Given the description of an element on the screen output the (x, y) to click on. 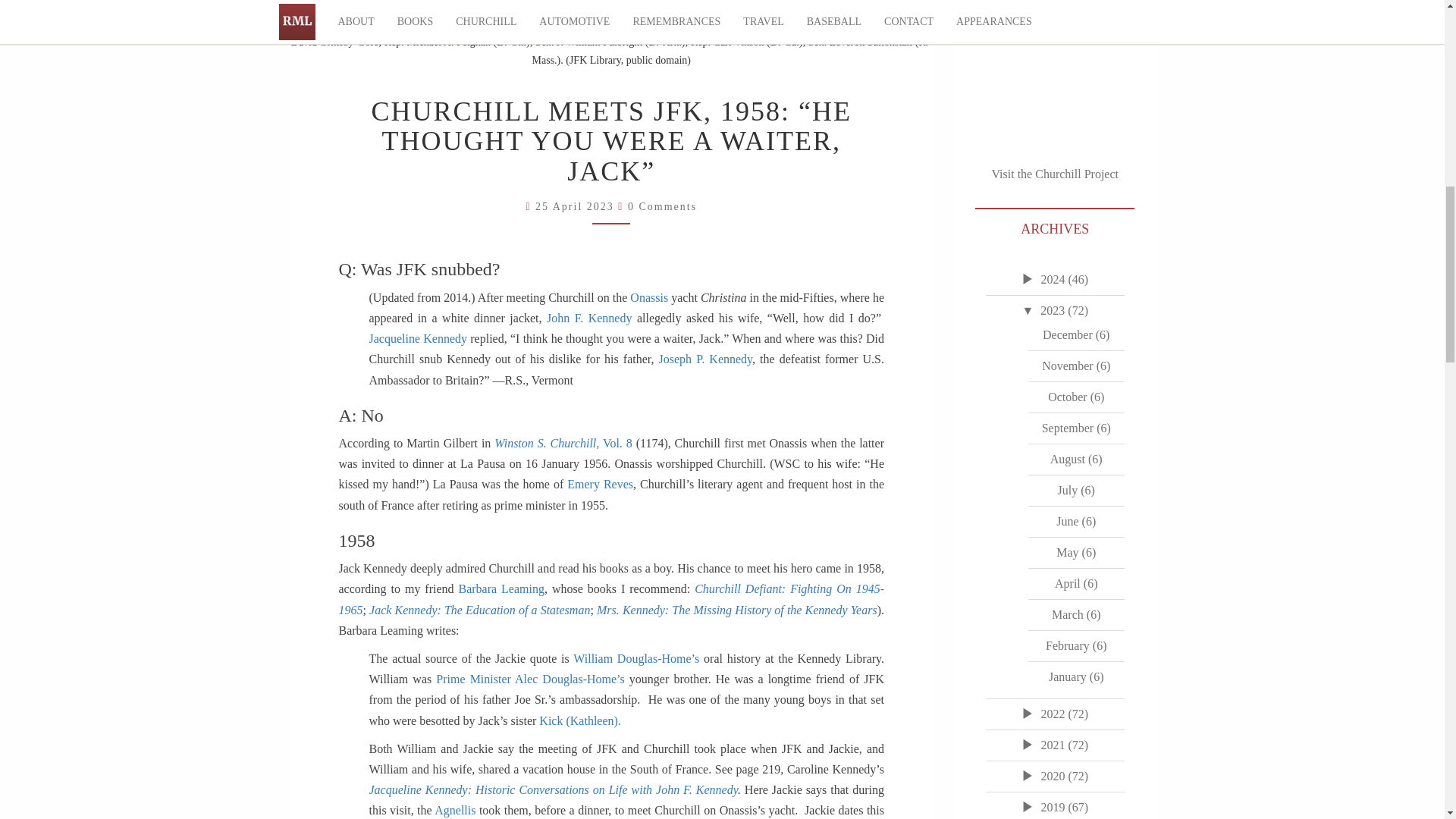
Joseph P. Kennedy (705, 358)
16:03 (576, 206)
John F. Kennedy (589, 318)
0 Comments (662, 206)
Emery Reves (600, 483)
25 April 2023 (576, 206)
